Given the description of an element on the screen output the (x, y) to click on. 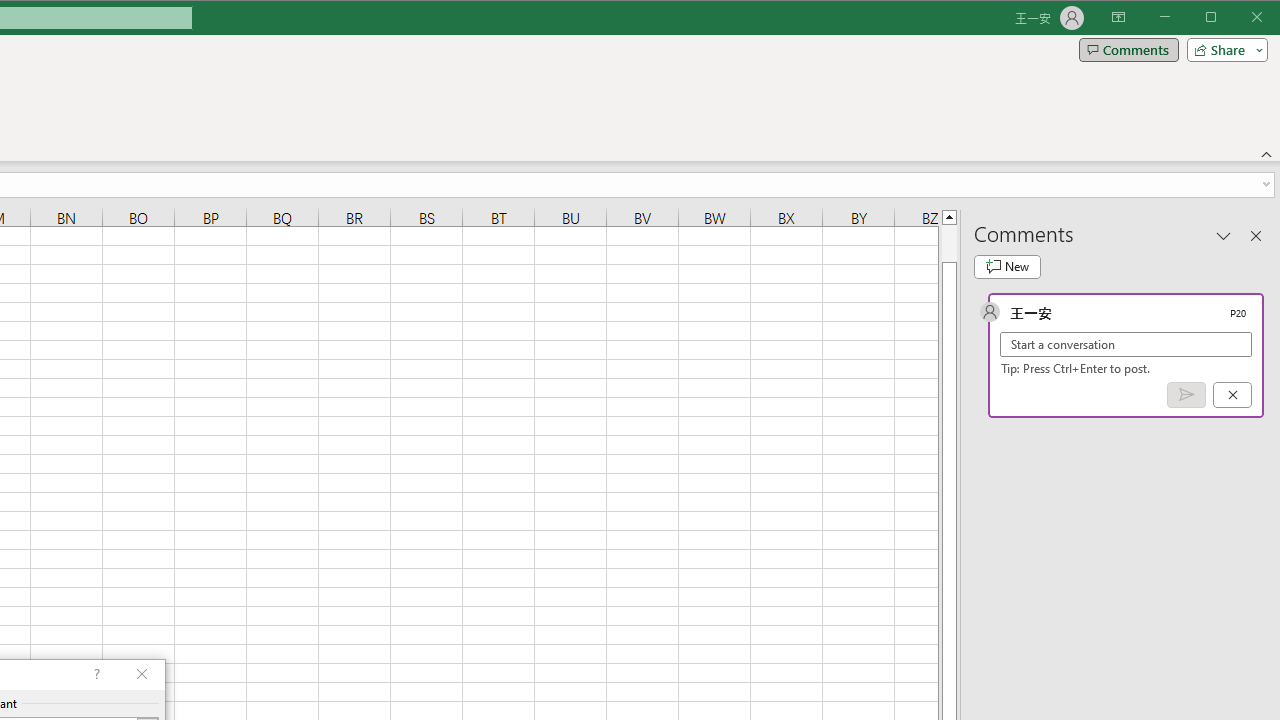
Cancel (1232, 395)
